Given the description of an element on the screen output the (x, y) to click on. 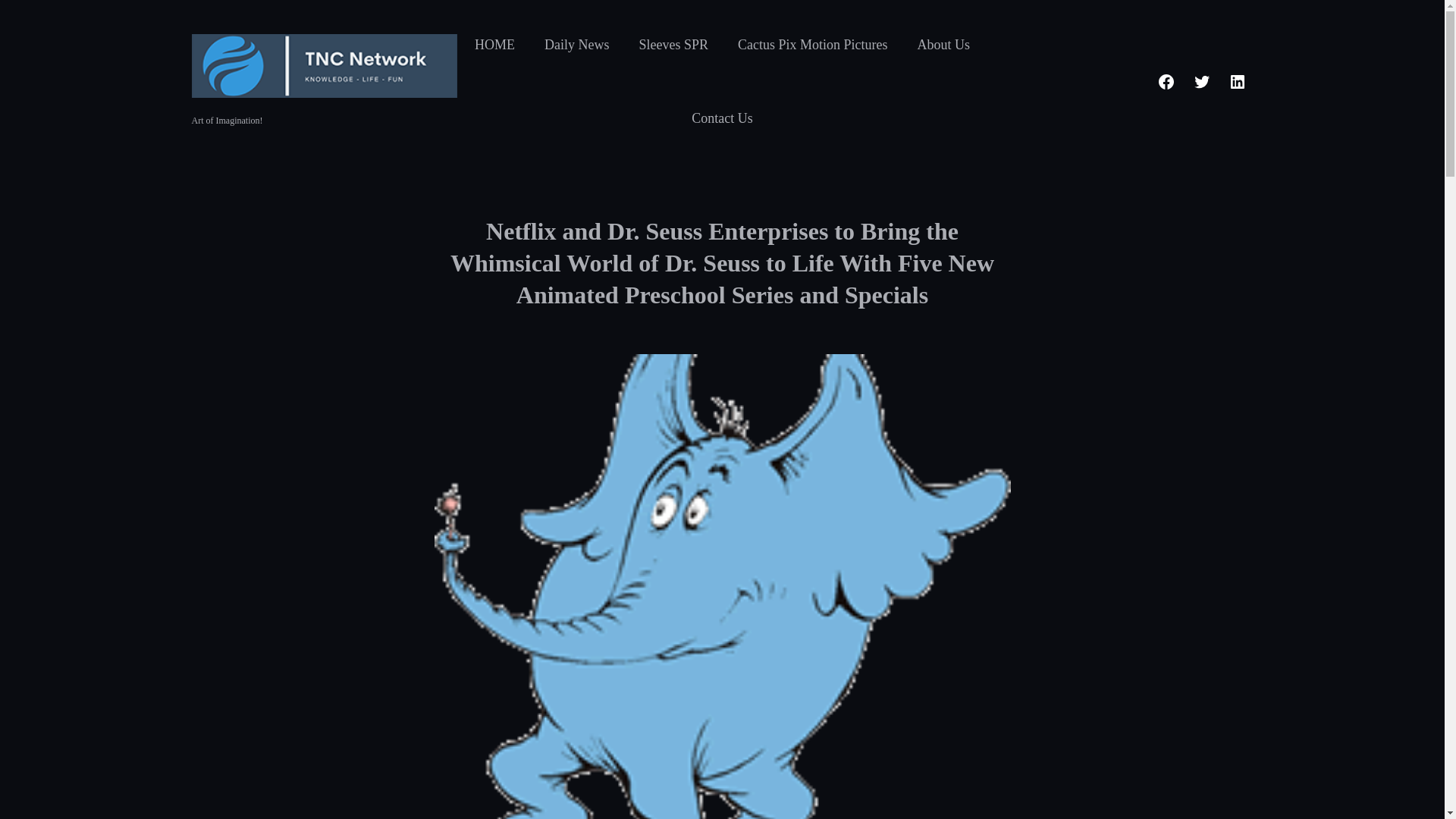
Daily News (576, 44)
Sleeves SPR (673, 44)
Facebook (1165, 81)
Contact Us (722, 118)
Cactus Pix Motion Pictures (812, 44)
Twitter (1201, 81)
HOME (494, 44)
LinkedIn (1236, 81)
About Us (943, 44)
